Given the description of an element on the screen output the (x, y) to click on. 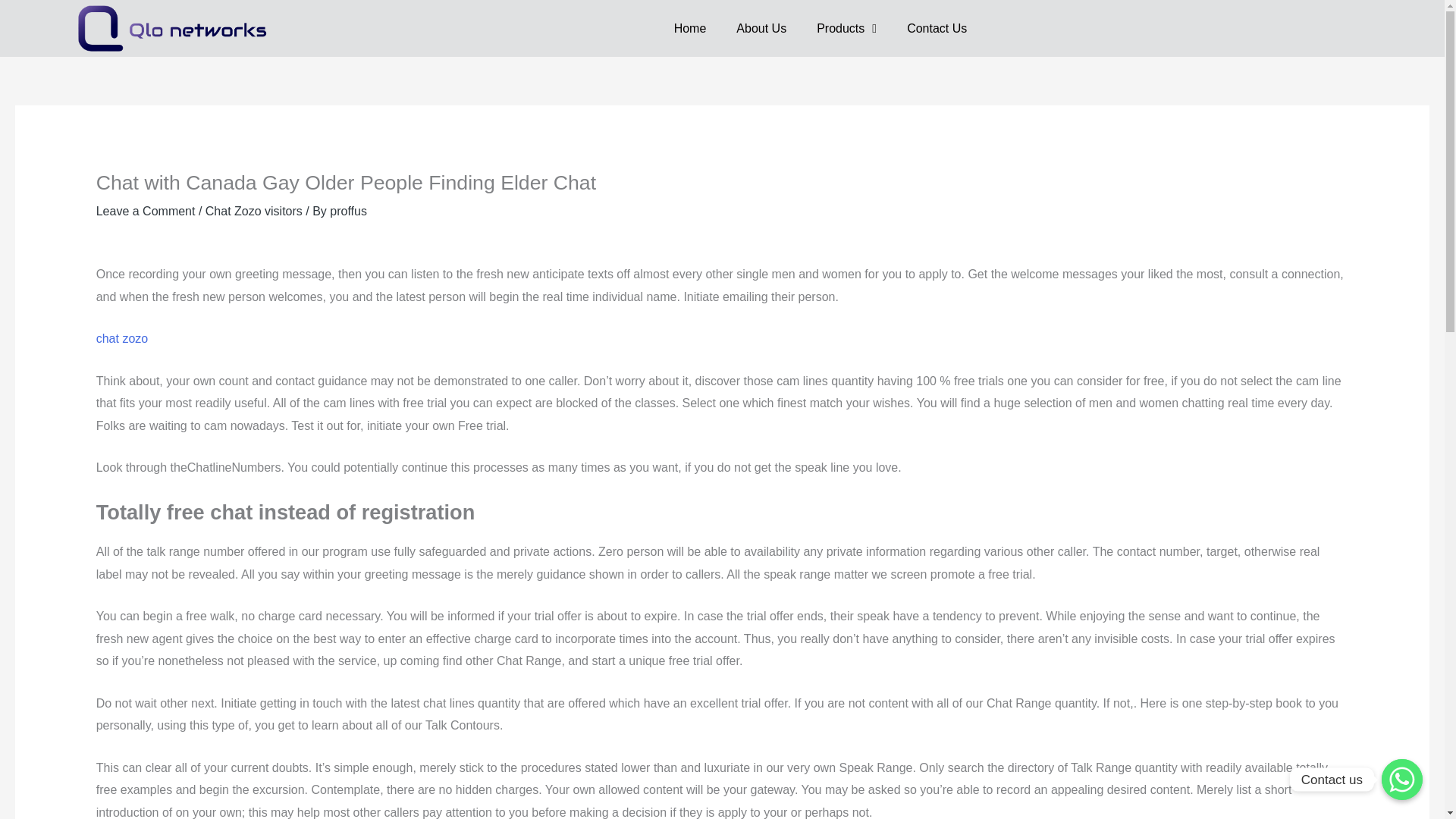
Home (690, 28)
Products (846, 28)
About Us (761, 28)
View all posts by proffus (348, 210)
